Given the description of an element on the screen output the (x, y) to click on. 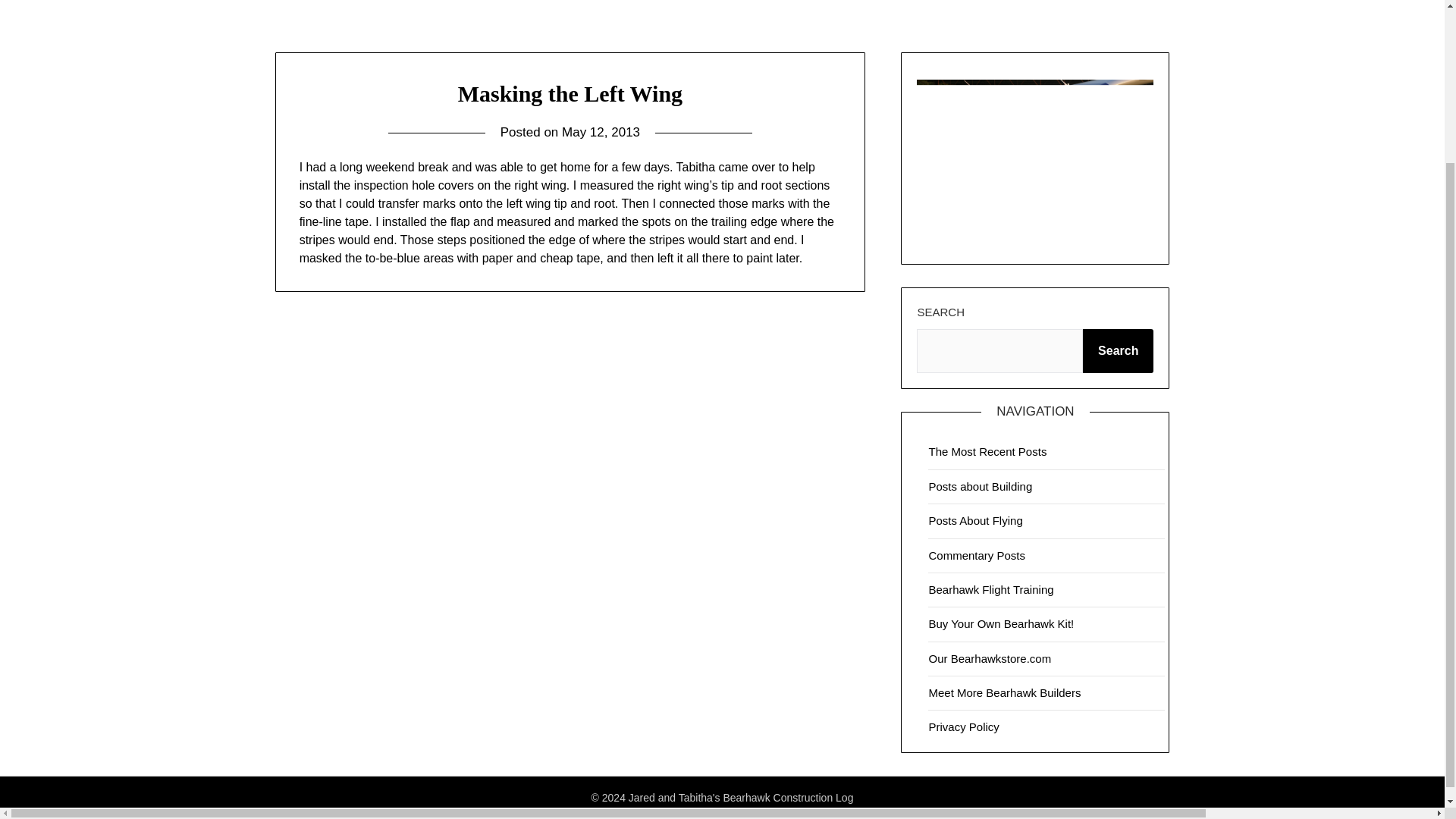
Meet More Bearhawk Builders (1004, 692)
Privacy Policy (963, 726)
Bearhawk Flight Training (990, 589)
Commentary Posts (976, 554)
Buy Your Own Bearhawk Kit! (1001, 623)
Posts about Building (980, 486)
May 12, 2013 (601, 132)
Search (1118, 351)
Posts About Flying (975, 520)
Our Bearhawkstore.com (989, 658)
